Given the description of an element on the screen output the (x, y) to click on. 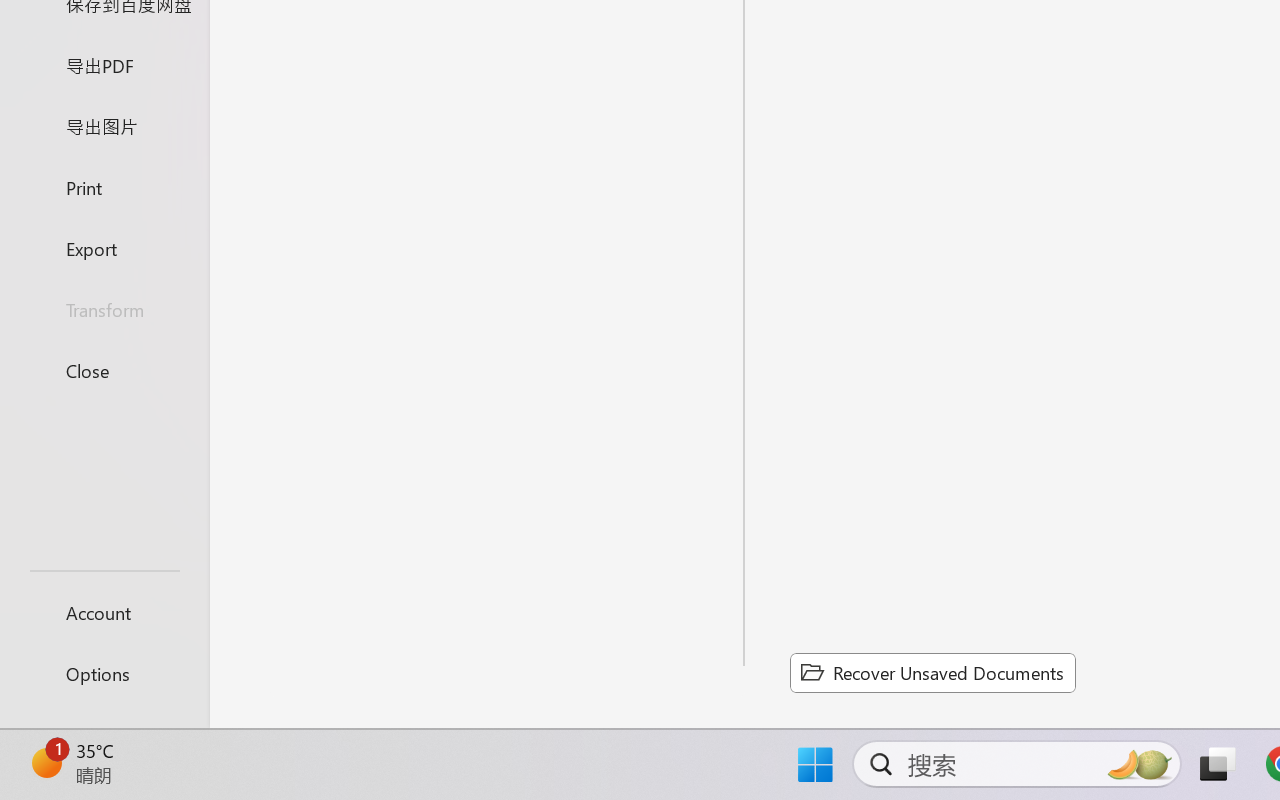
Account (104, 612)
Options (104, 673)
Transform (104, 309)
Export (104, 248)
Recover Unsaved Documents (932, 672)
Print (104, 186)
